Given the description of an element on the screen output the (x, y) to click on. 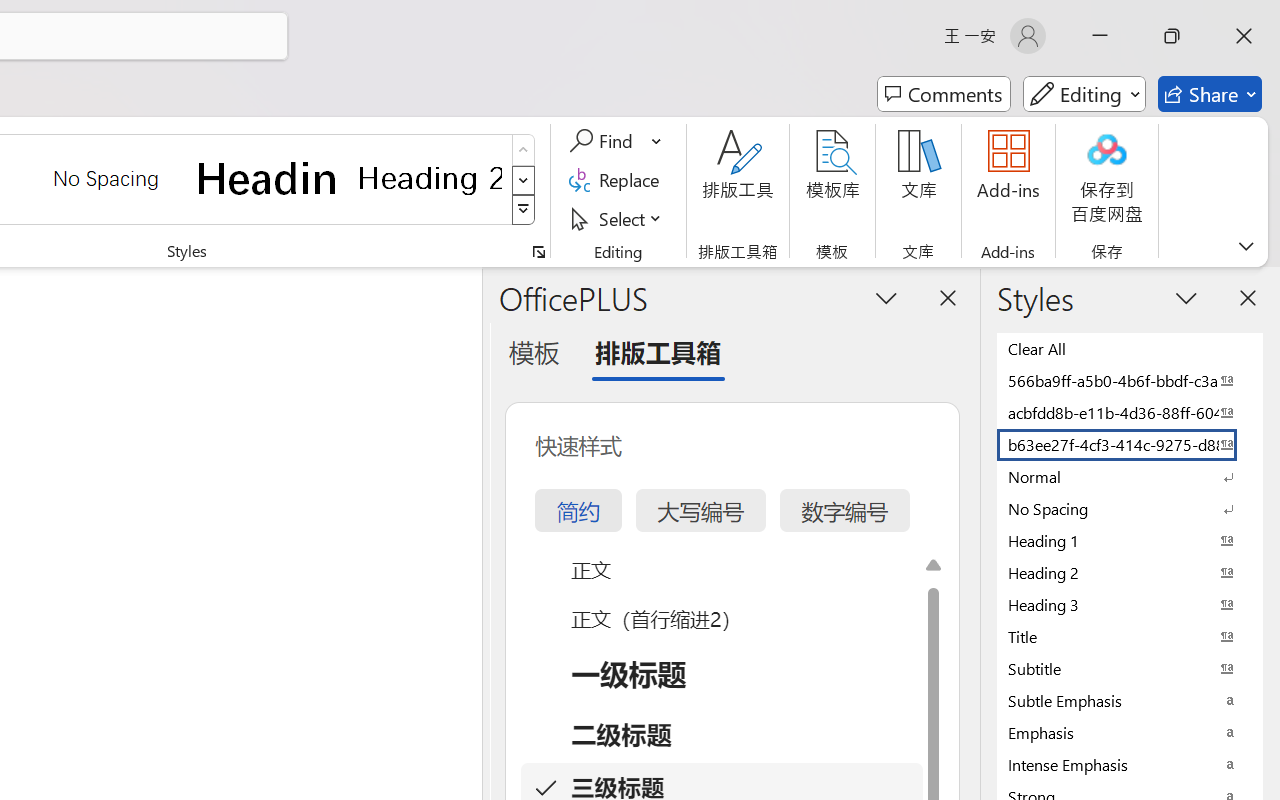
Task Pane Options (886, 297)
Class: NetUIImage (523, 210)
Heading 3 (1130, 604)
acbfdd8b-e11b-4d36-88ff-6049b138f862 (1130, 412)
Comments (943, 94)
Row Down (523, 180)
Heading 1 (267, 178)
Styles... (538, 252)
Normal (1130, 476)
Subtitle (1130, 668)
